Given the description of an element on the screen output the (x, y) to click on. 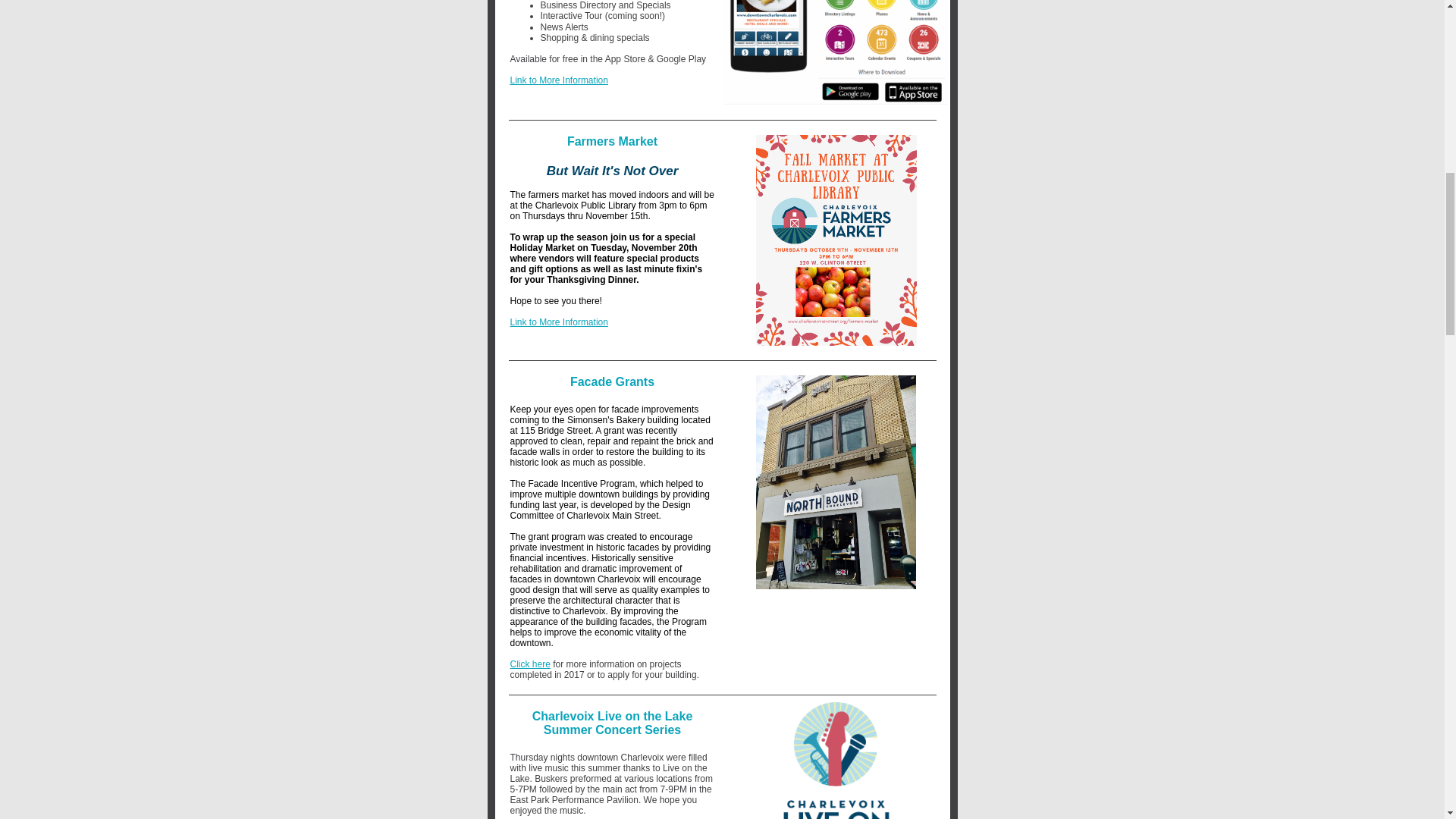
Link to More Information (558, 80)
Link to More Information (558, 321)
Click here (529, 664)
